Given the description of an element on the screen output the (x, y) to click on. 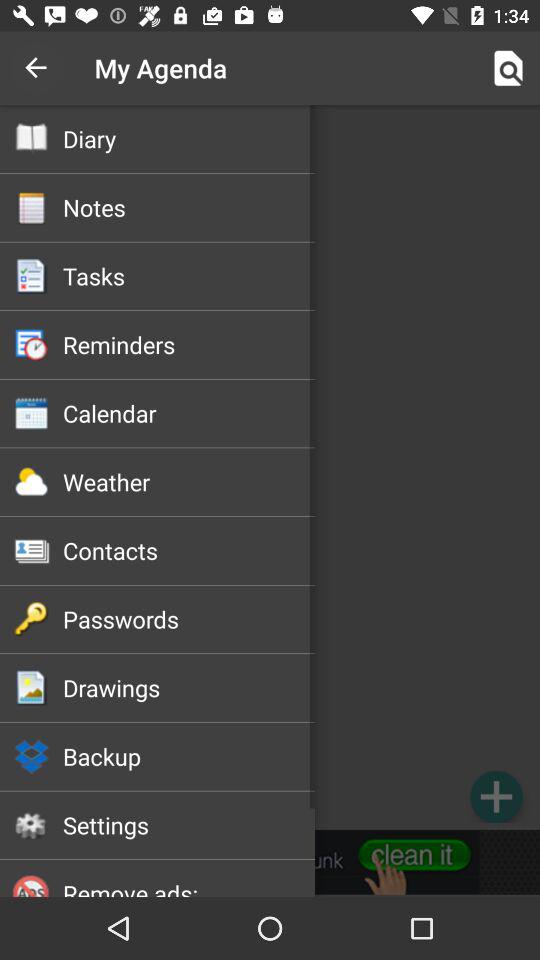
select icon above the contacts icon (188, 482)
